Given the description of an element on the screen output the (x, y) to click on. 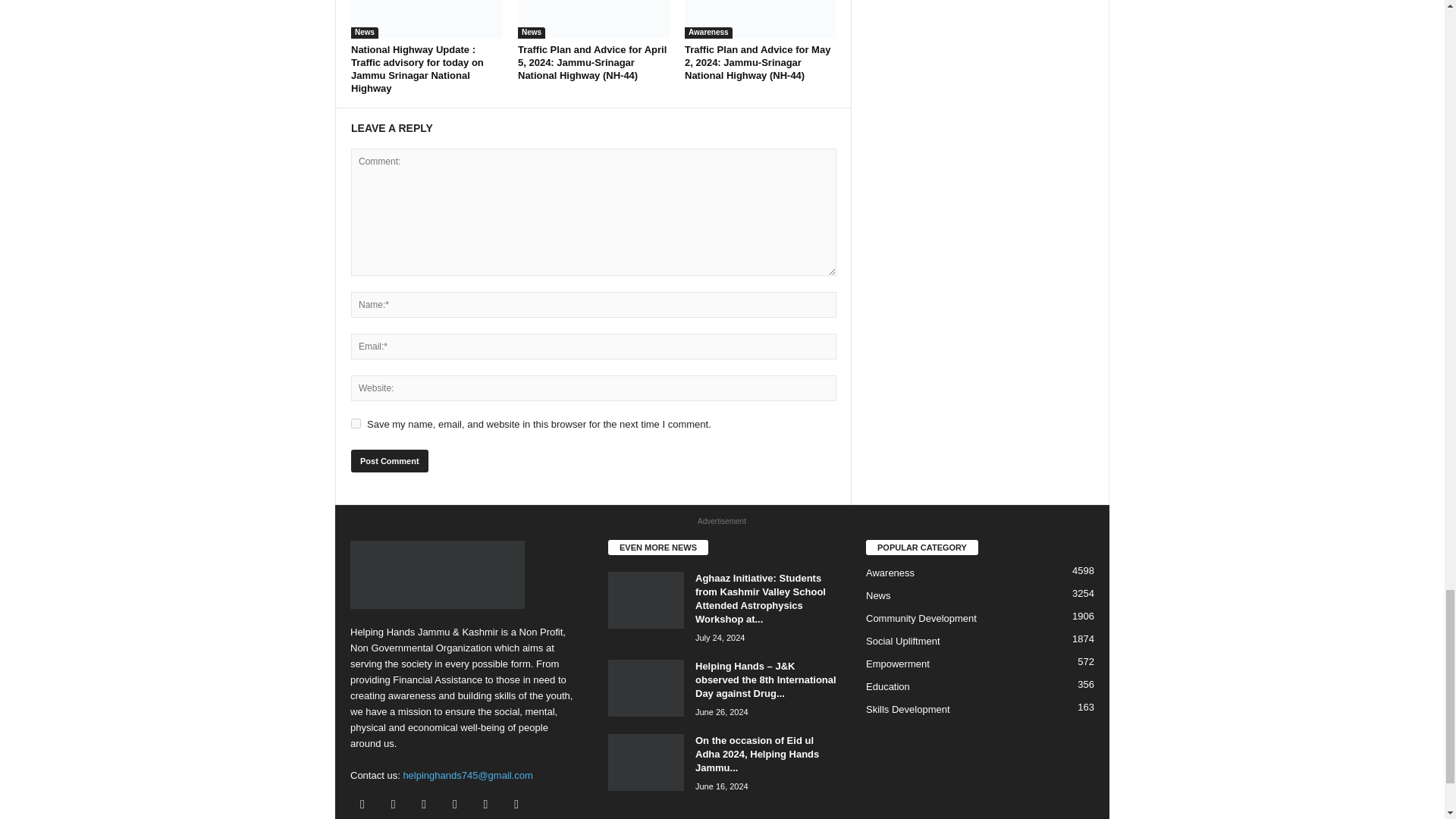
Post Comment (389, 460)
yes (355, 423)
